Given the description of an element on the screen output the (x, y) to click on. 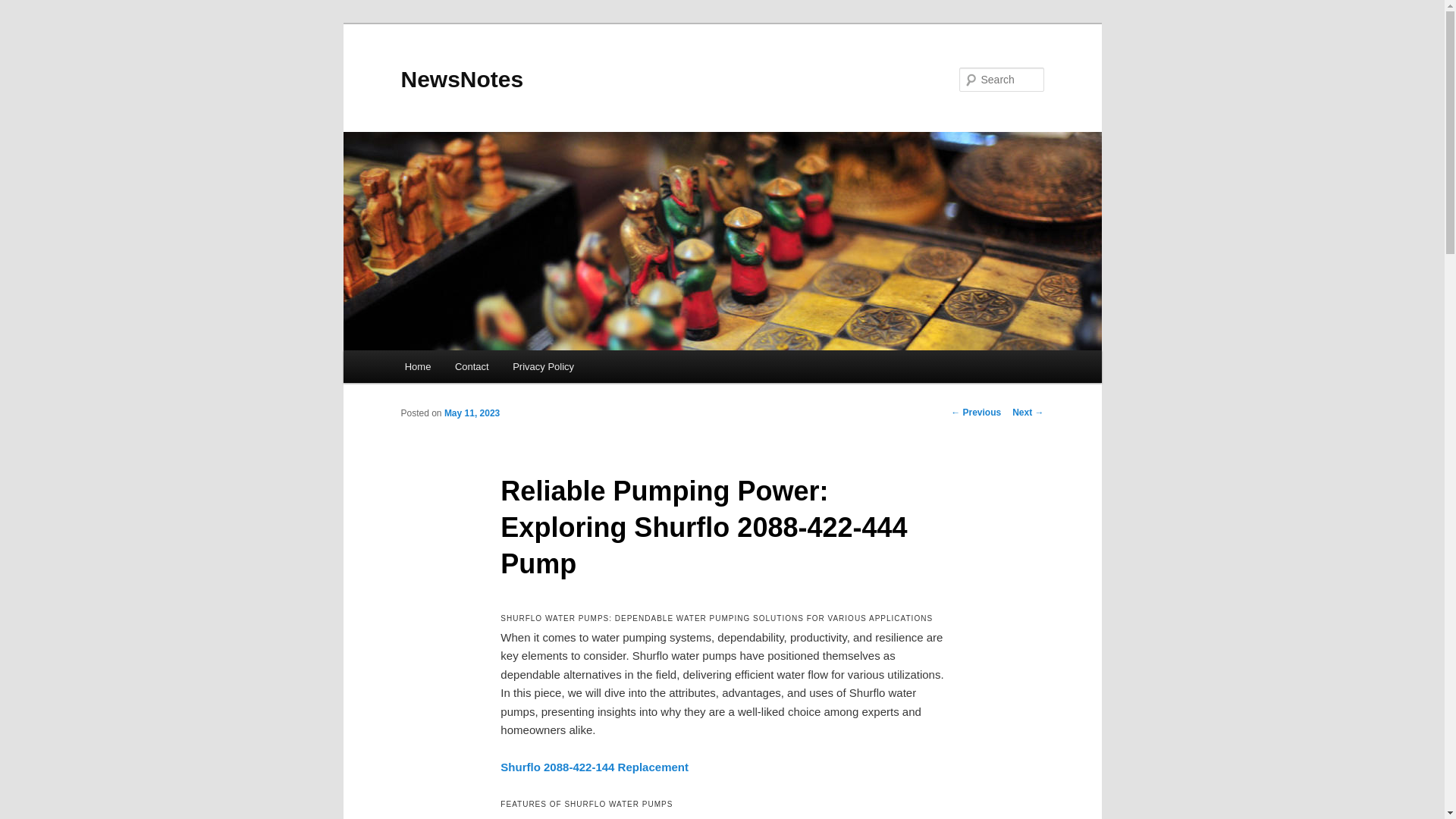
Shurflo 2088-422-144 Replacement (594, 766)
Search (24, 8)
Contact (471, 366)
May 11, 2023 (471, 412)
NewsNotes (461, 78)
7:06 am (471, 412)
Home (417, 366)
Privacy Policy (542, 366)
